Given the description of an element on the screen output the (x, y) to click on. 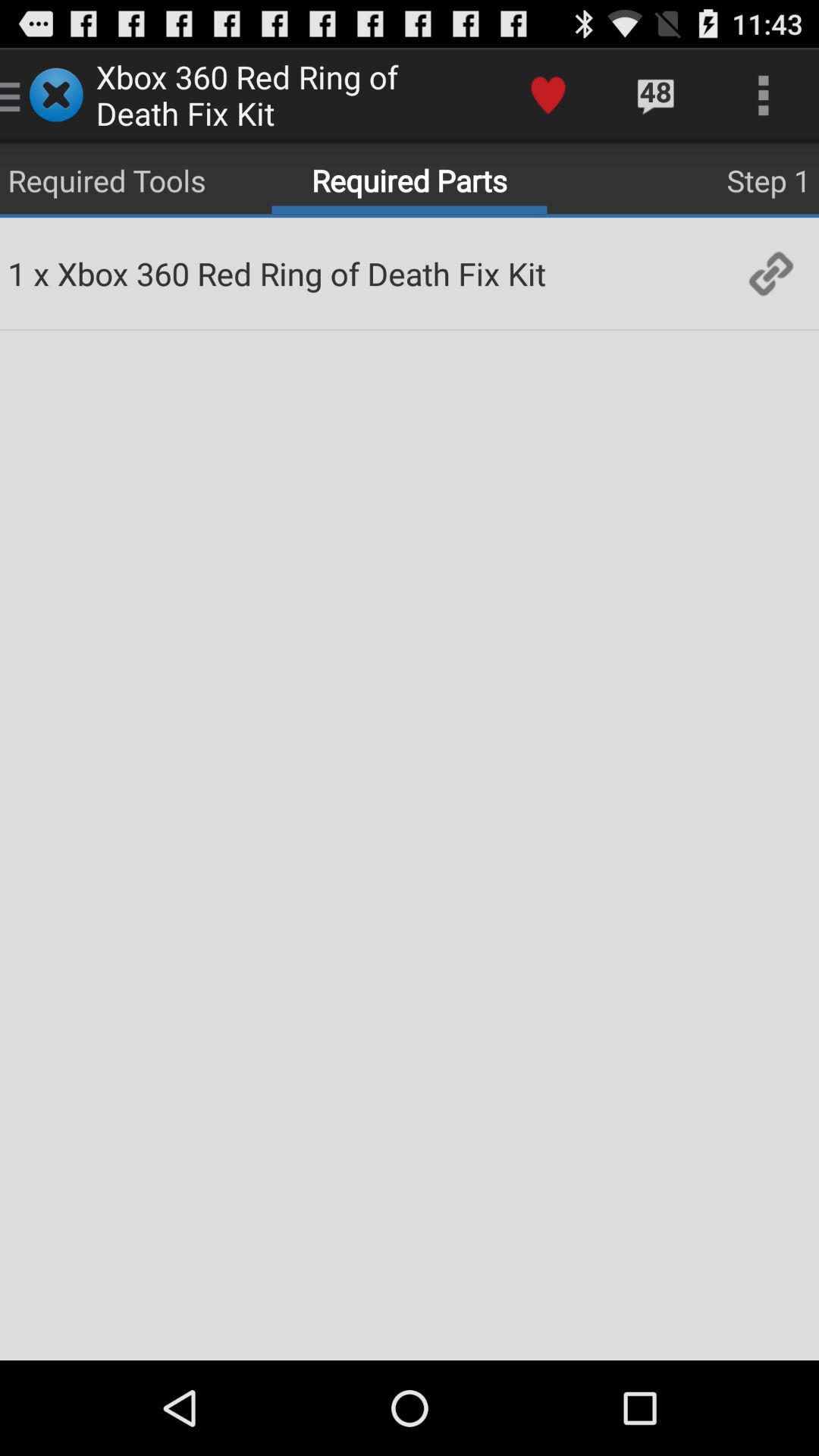
click icon to the right of the xbox 360 red item (771, 273)
